Given the description of an element on the screen output the (x, y) to click on. 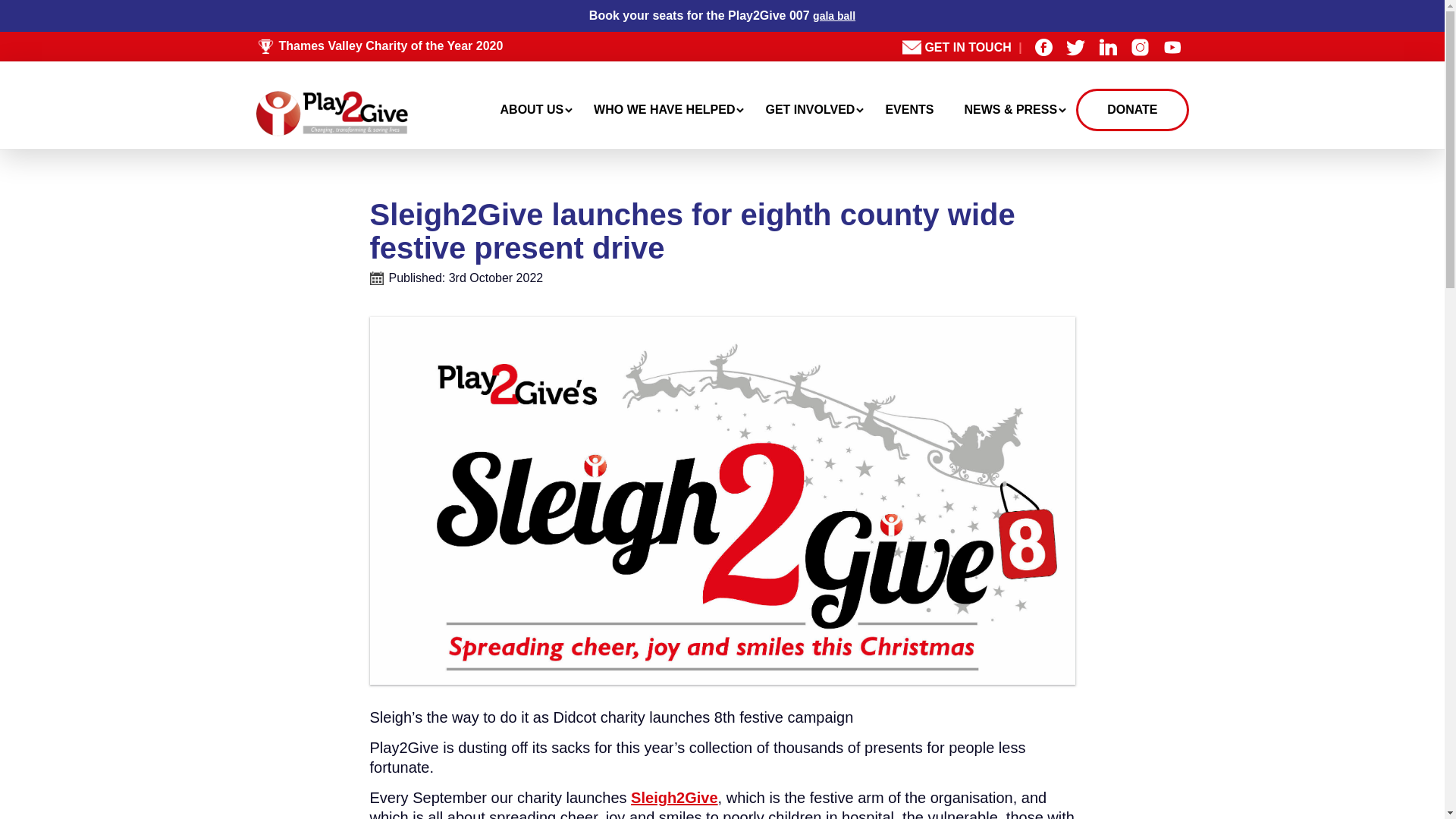
EVENTS (912, 109)
GET INVOLVED (813, 109)
DONATE (1131, 109)
GET IN TOUCH (975, 46)
gala ball (834, 15)
WHO WE HAVE HELPED (668, 109)
ABOUT US (536, 109)
